Given the description of an element on the screen output the (x, y) to click on. 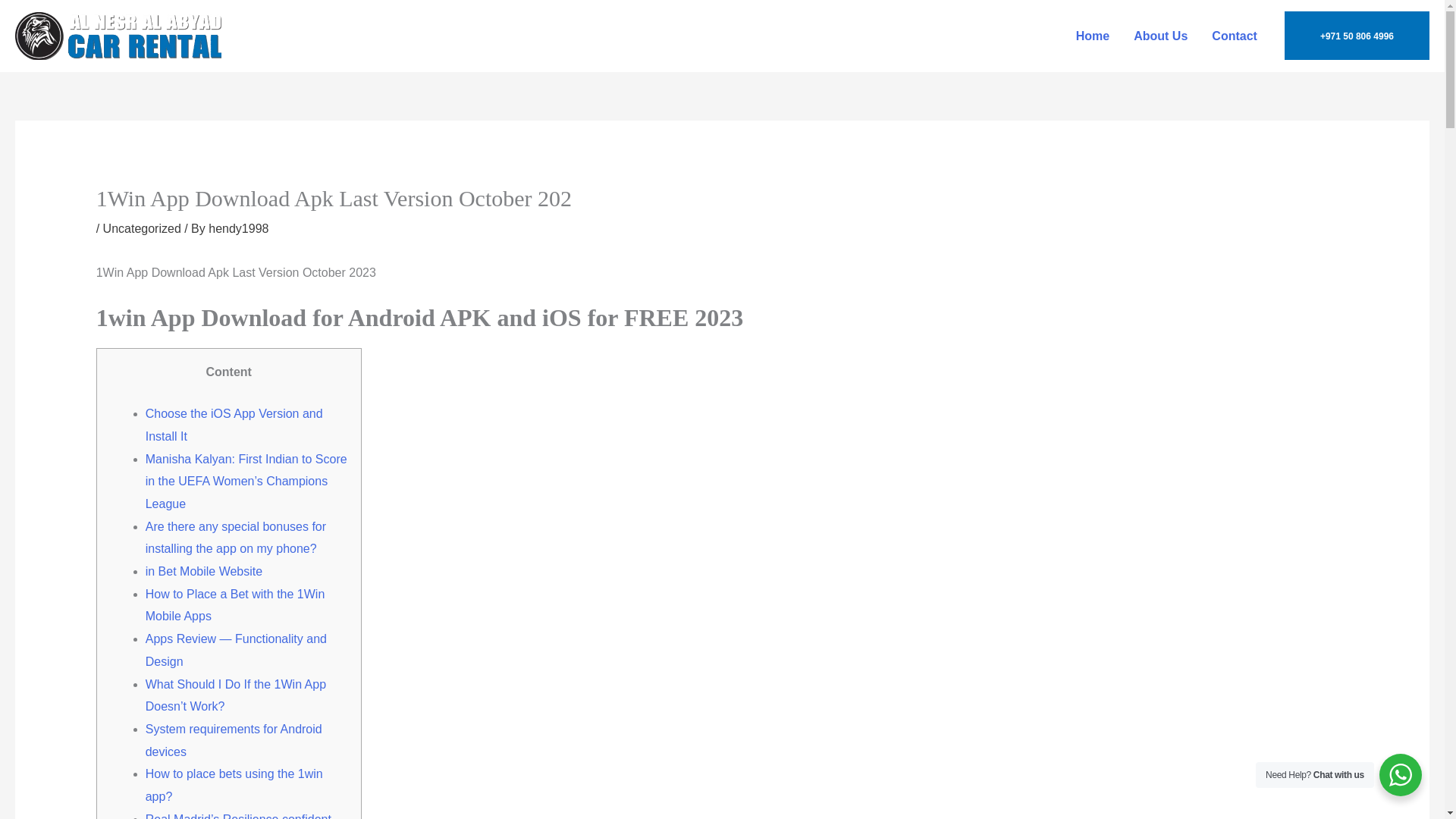
How to place bets using the 1win app? (234, 785)
in Bet Mobile Website (203, 571)
System requirements for Android devices (233, 740)
hendy1998 (237, 228)
About Us (1160, 35)
Contact (1234, 35)
Choose the iOS App Version and Install It (234, 425)
Uncategorized (141, 228)
View all posts by hendy1998 (237, 228)
How to Place a Bet with the 1Win Mobile Apps (234, 605)
Home (1092, 35)
